Given the description of an element on the screen output the (x, y) to click on. 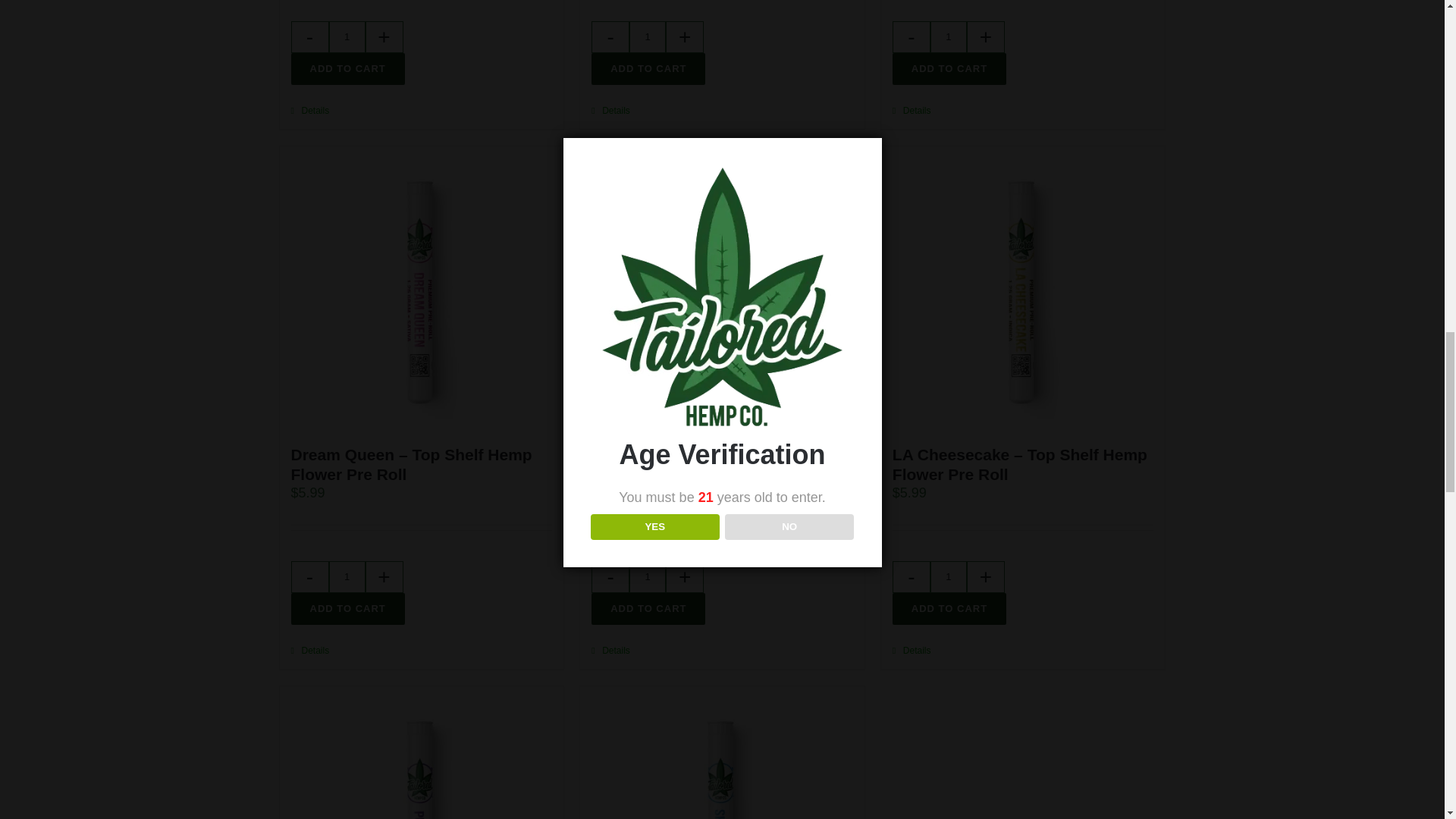
1 (346, 37)
- (309, 37)
